Given the description of an element on the screen output the (x, y) to click on. 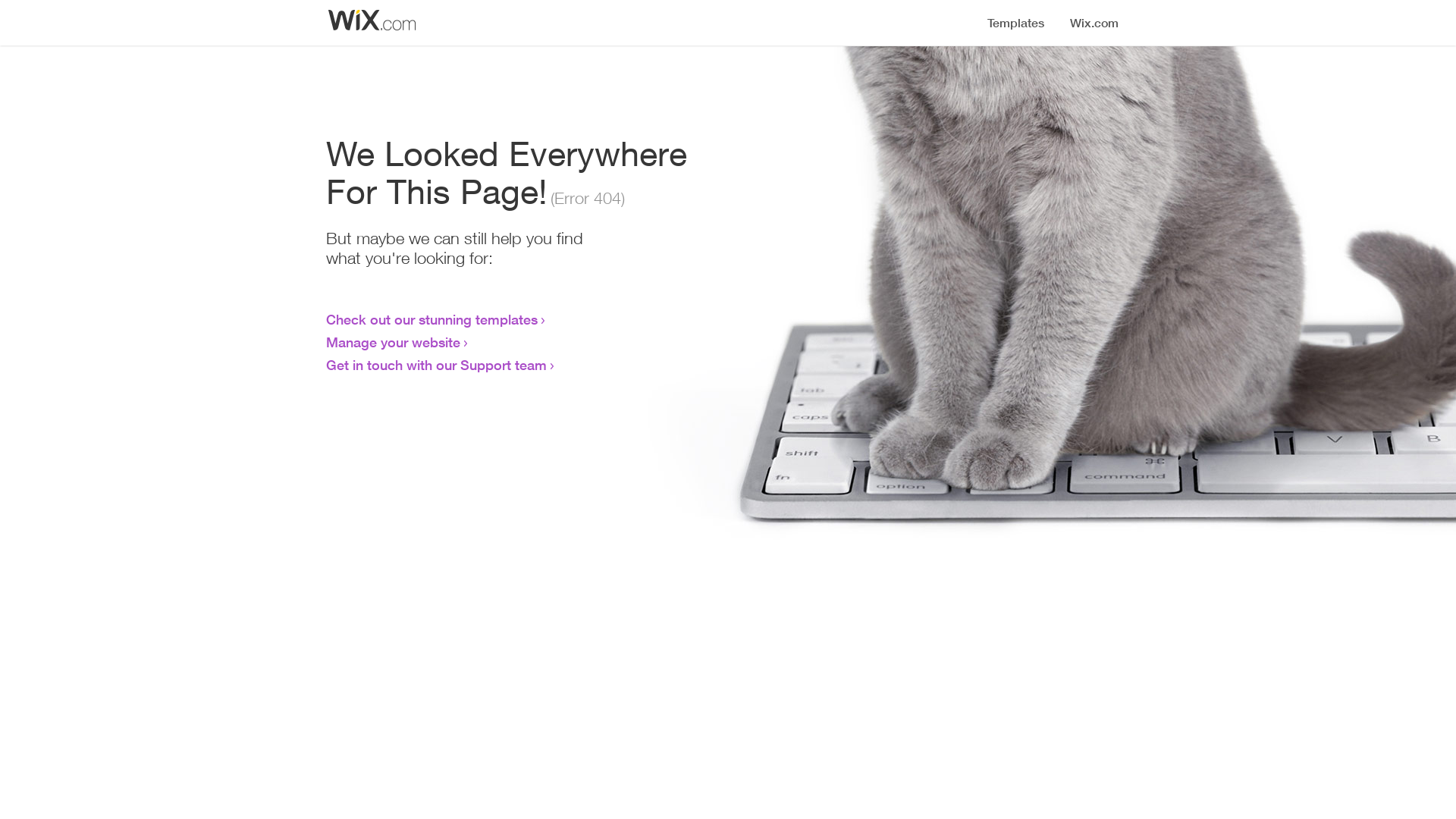
Manage your website Element type: text (393, 341)
Get in touch with our Support team Element type: text (436, 364)
Check out our stunning templates Element type: text (431, 318)
